Given the description of an element on the screen output the (x, y) to click on. 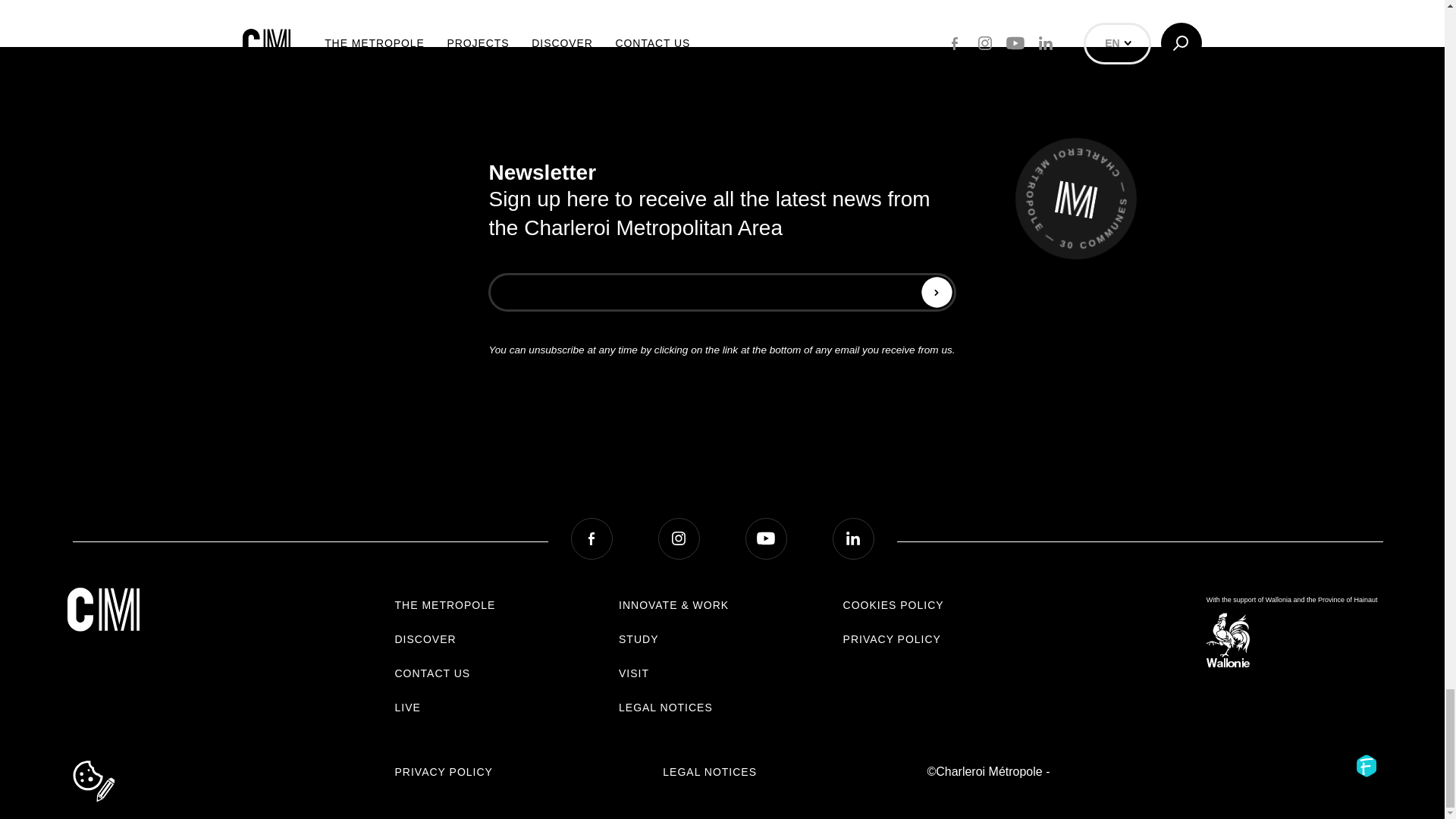
Logo Wallonie (1228, 664)
COOKIES POLICY (893, 605)
Instagram (679, 538)
PRIVACY POLICY (443, 771)
LEGAL NOTICES (665, 707)
CONTACT US (432, 673)
STUDY (638, 638)
VISIT (633, 673)
Facebook (590, 538)
LIVE (407, 707)
